Given the description of an element on the screen output the (x, y) to click on. 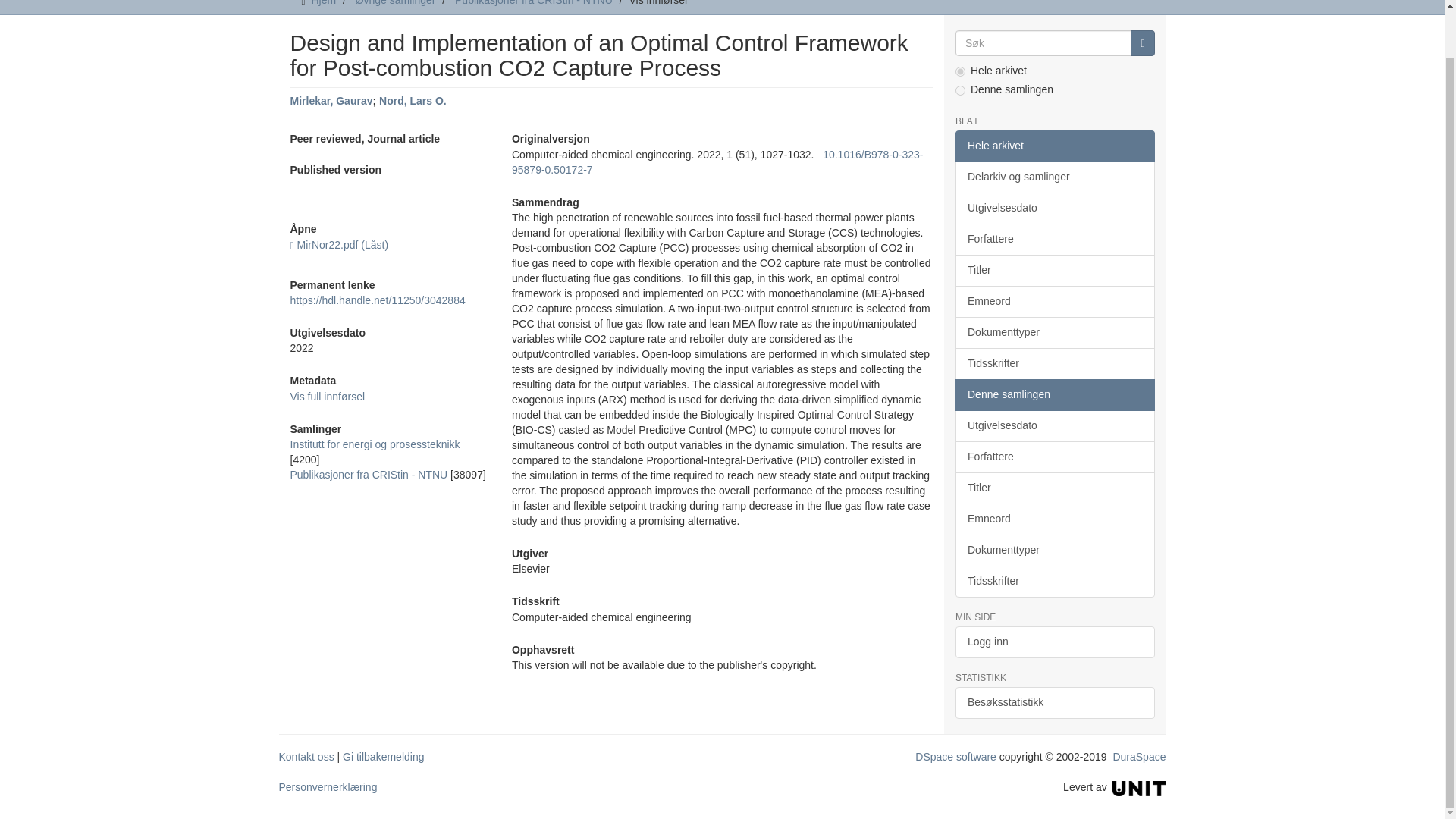
Utgivelsesdato (1054, 208)
Mirlekar, Gaurav (330, 101)
Publikasjoner fra CRIStin - NTNU (367, 474)
Unit (1139, 787)
Publikasjoner fra CRIStin - NTNU (533, 2)
Titler (1054, 270)
Delarkiv og samlinger (1054, 177)
Institutt for energi og prosessteknikk (374, 444)
Hele arkivet (1054, 146)
Forfattere (1054, 239)
Hjem (323, 2)
Nord, Lars O. (412, 101)
